Given the description of an element on the screen output the (x, y) to click on. 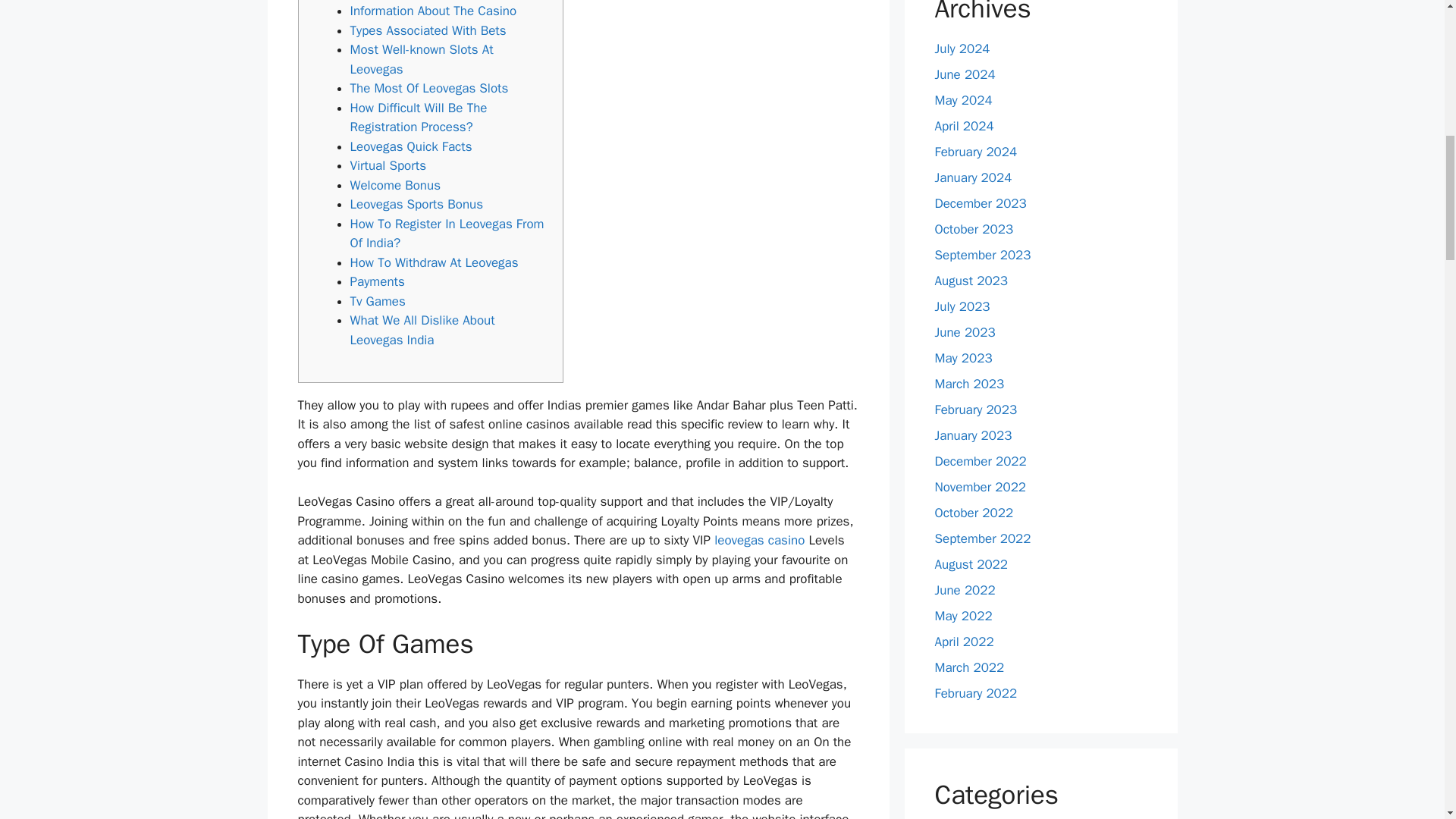
Most Well-known Slots At Leovegas (421, 58)
Payments (377, 281)
Information About The Casino (433, 10)
The Most Of Leovegas Slots (429, 88)
Leovegas Quick Facts (410, 146)
Types Associated With Bets (428, 30)
Tv Games (378, 301)
How To Register In Leovegas From Of India? (447, 233)
How Difficult Will Be The Registration Process? (418, 117)
Welcome Bonus (395, 185)
leovegas casino (759, 539)
How To Withdraw At Leovegas (434, 262)
What We All Dislike About Leovegas India (422, 330)
Leovegas Sports Bonus (416, 204)
Virtual Sports (388, 165)
